Given the description of an element on the screen output the (x, y) to click on. 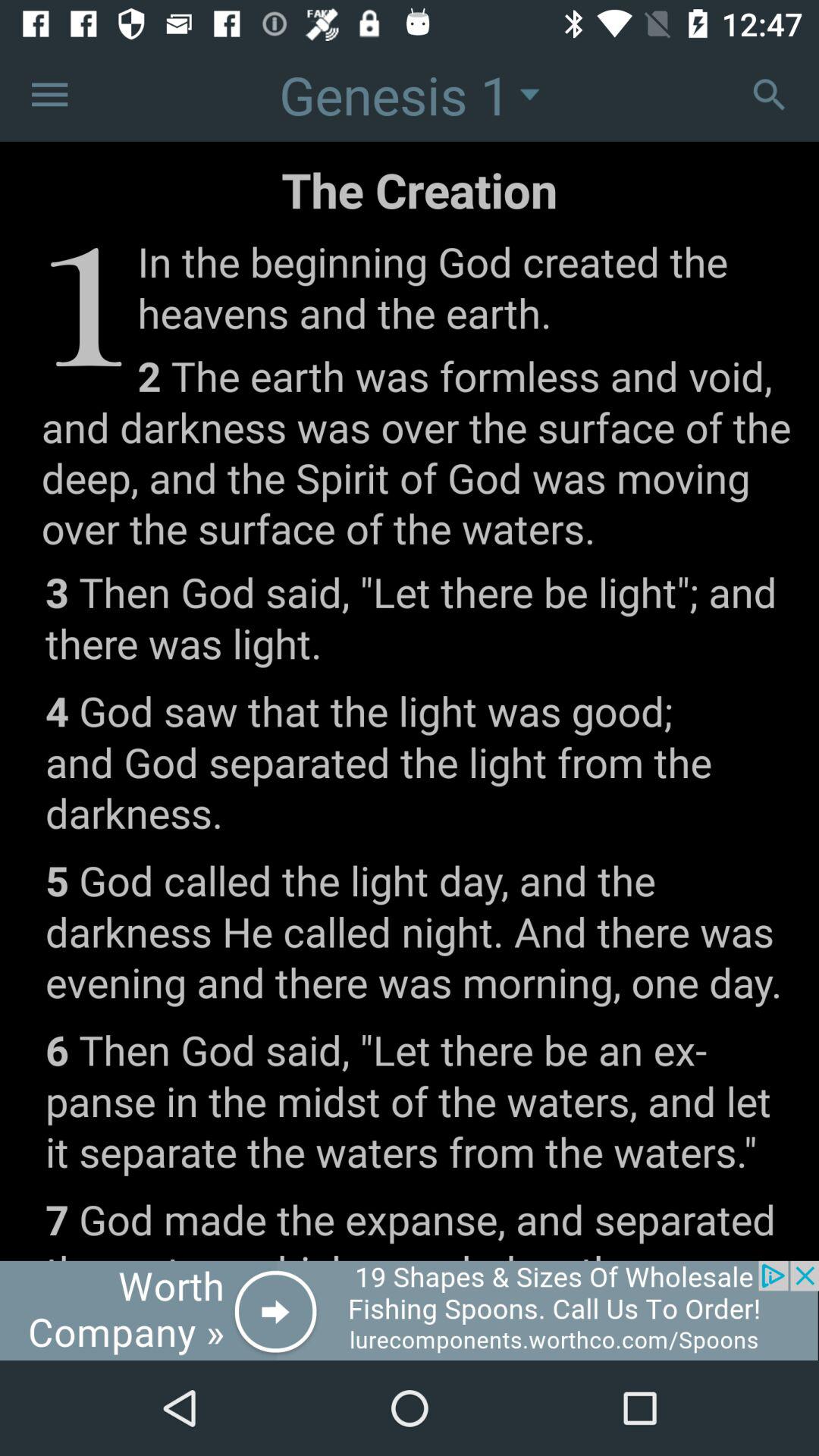
open advertisement (409, 1310)
